Given the description of an element on the screen output the (x, y) to click on. 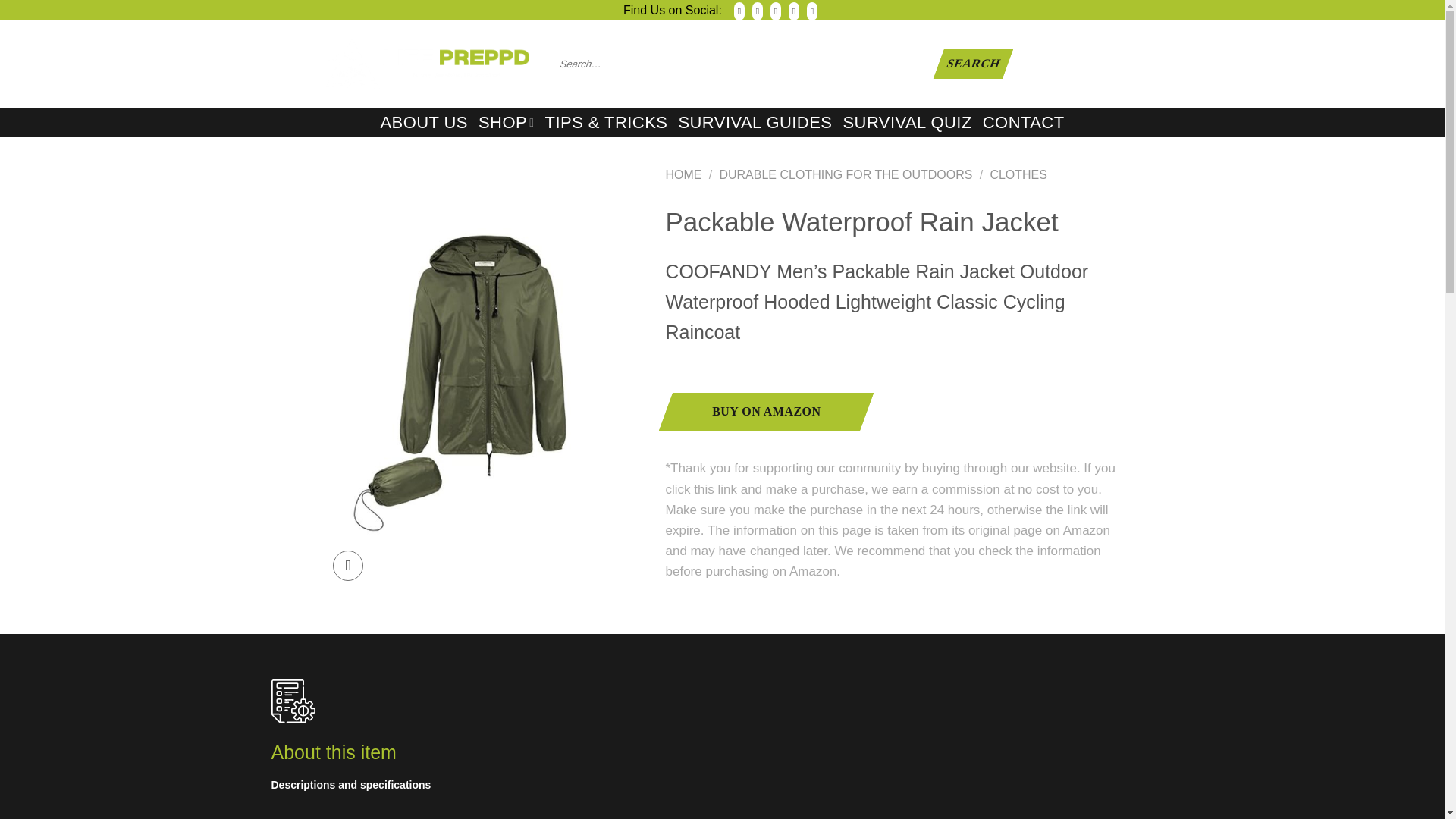
CONTACT (1023, 122)
DURABLE CLOTHING FOR THE OUTDOORS (845, 174)
Search (968, 63)
ABOUT US (423, 122)
SURVIVAL GUIDES (754, 122)
HOME (683, 174)
CLOTHES (1018, 174)
Life Preppd - Survival Simplified, Life Amplified (426, 64)
SHOP (506, 122)
SURVIVAL QUIZ (907, 122)
